Given the description of an element on the screen output the (x, y) to click on. 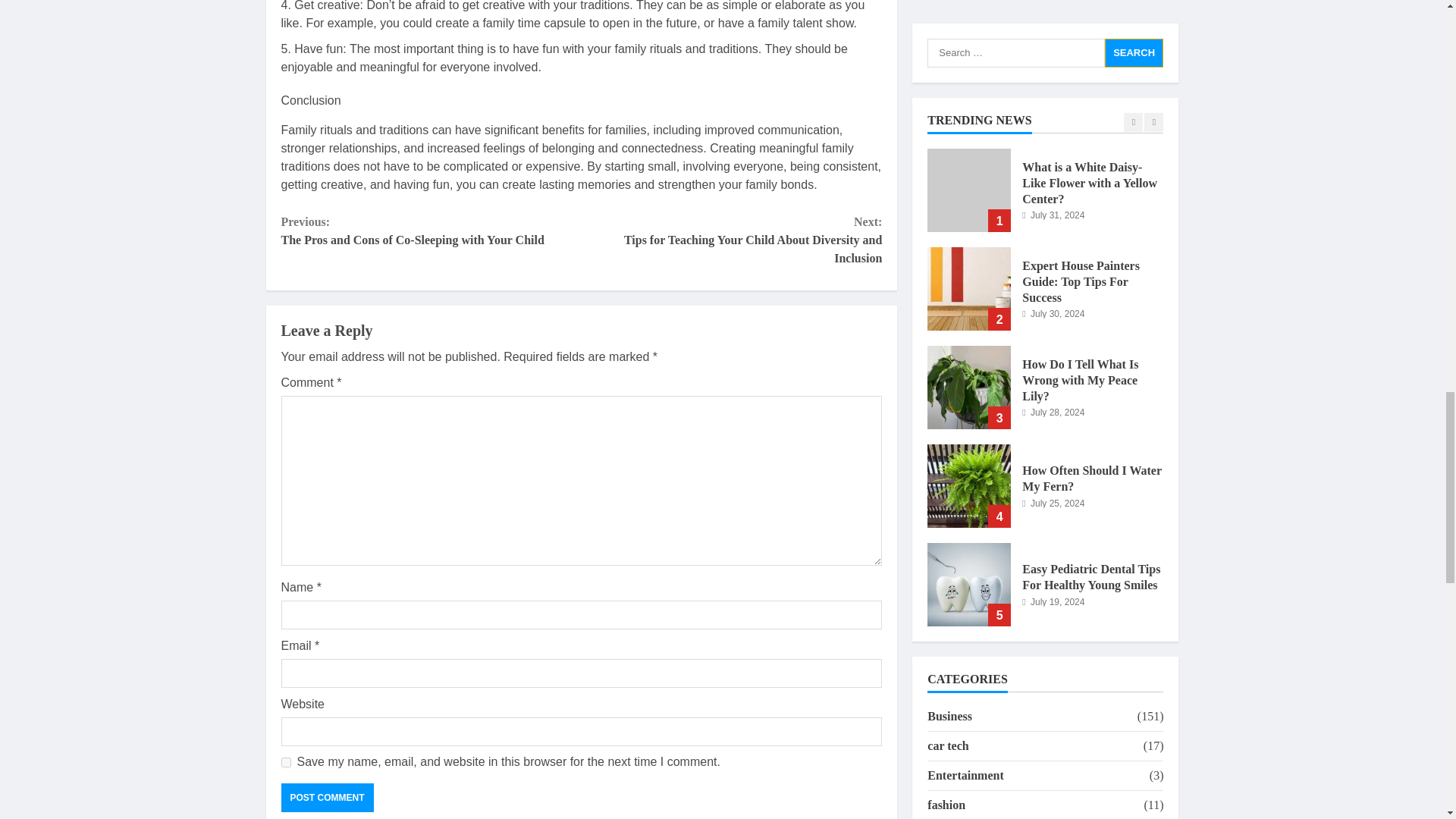
yes (285, 762)
Post Comment (326, 797)
